Given the description of an element on the screen output the (x, y) to click on. 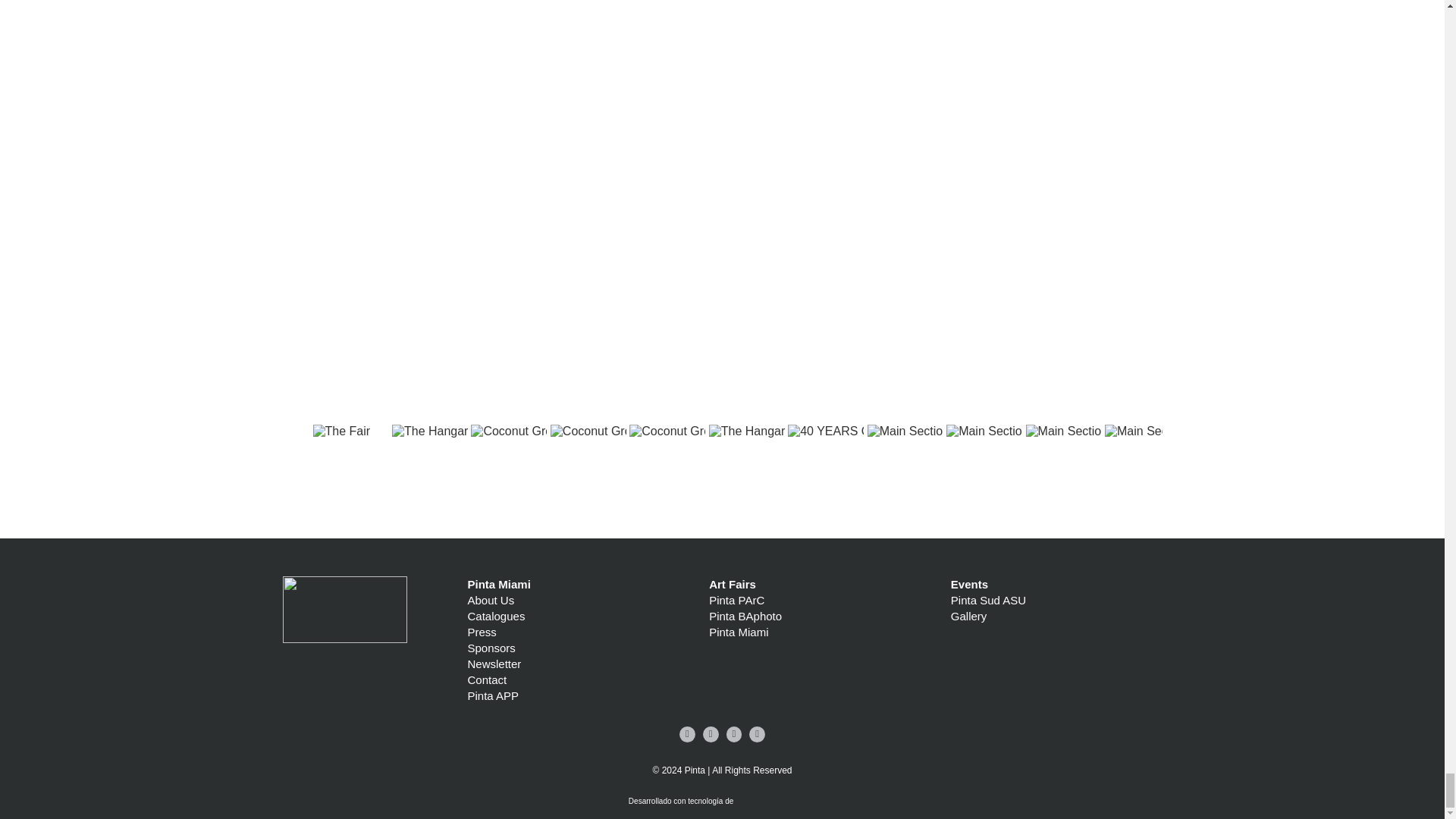
Coconut Grove (508, 462)
Pinta BAphoto (745, 615)
Pinta APP (492, 695)
About Us (490, 599)
Catalogues (495, 615)
Main Section (1142, 462)
Coconut Grove (666, 462)
Newsletter (494, 663)
Pinta Miami (738, 631)
Main Section (1064, 462)
